Given the description of an element on the screen output the (x, y) to click on. 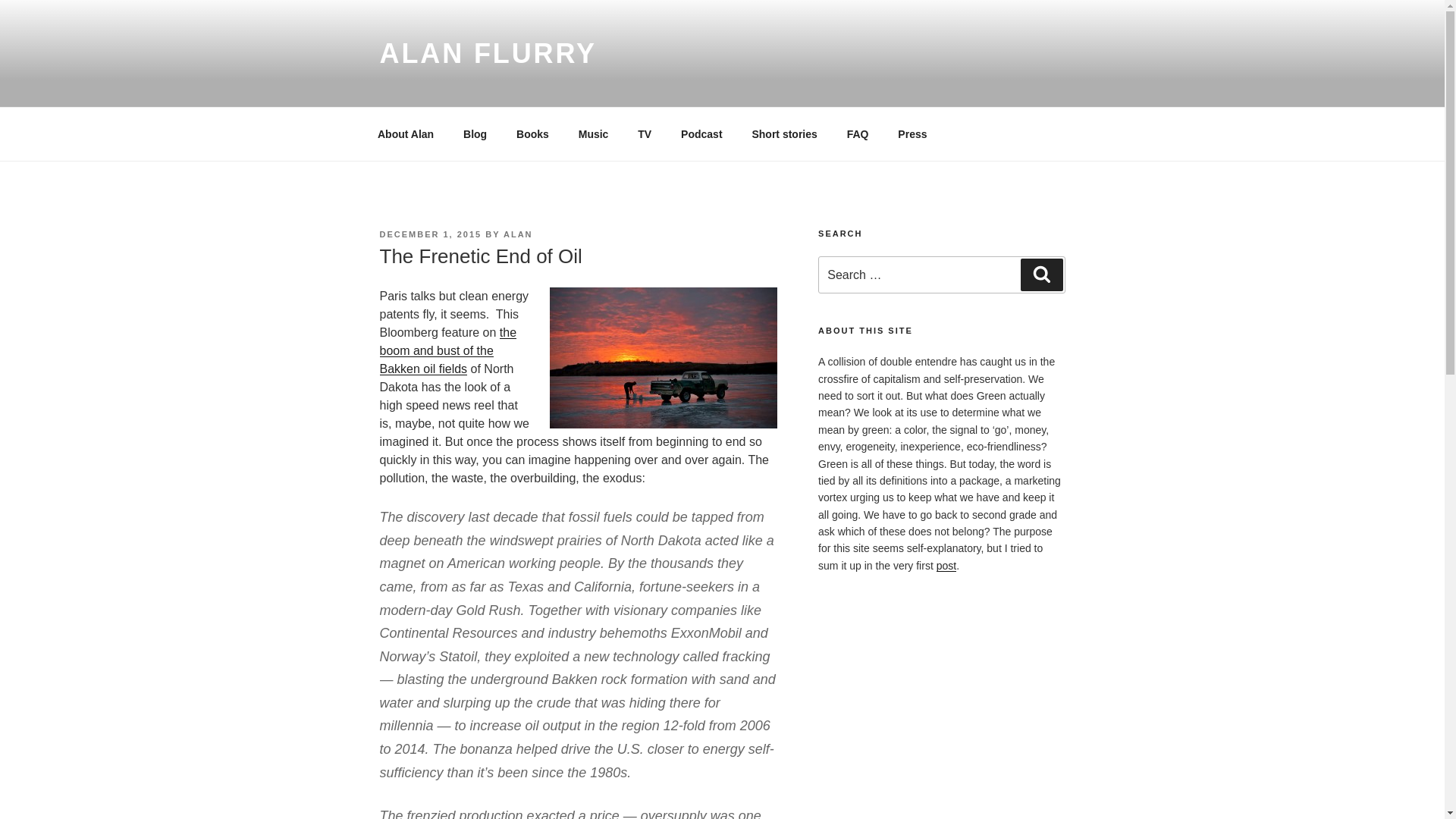
FAQ (857, 133)
TV (644, 133)
About Alan (405, 133)
ALAN FLURRY (486, 52)
Podcast (701, 133)
Books (532, 133)
Short stories (783, 133)
Search (1041, 274)
Blog (474, 133)
post (946, 565)
